Given the description of an element on the screen output the (x, y) to click on. 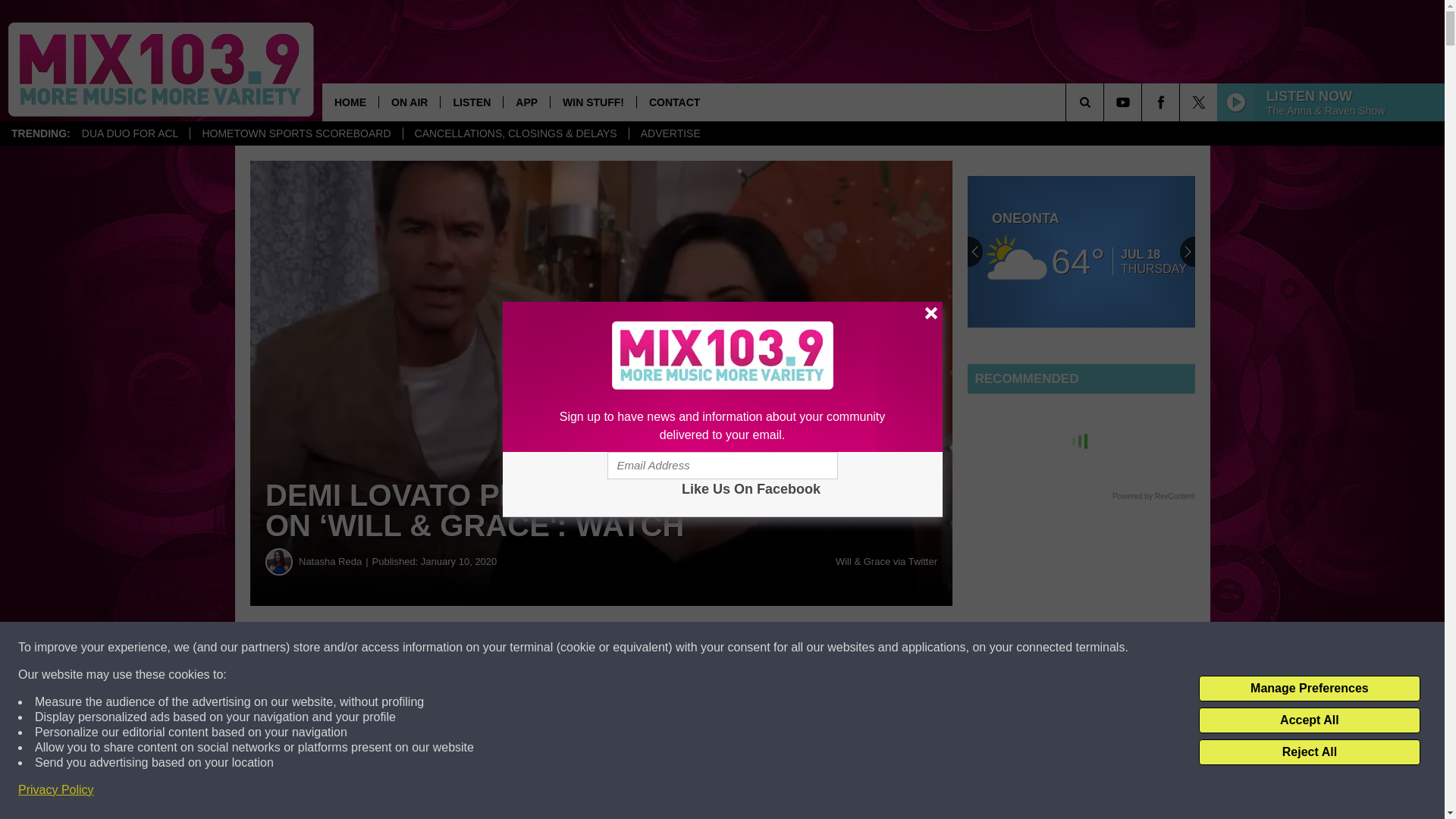
Share on Facebook (460, 647)
Privacy Policy (55, 789)
SEARCH (1106, 102)
Oneonta Weather (1081, 251)
Accept All (1309, 720)
Email Address (722, 465)
Share on Twitter (741, 647)
SEARCH (1106, 102)
CONTACT (673, 102)
HOMETOWN SPORTS SCOREBOARD (295, 133)
DUA DUO FOR ACL (129, 133)
ADVERTISE (669, 133)
WIN STUFF! (593, 102)
APP (526, 102)
Manage Preferences (1309, 688)
